Given the description of an element on the screen output the (x, y) to click on. 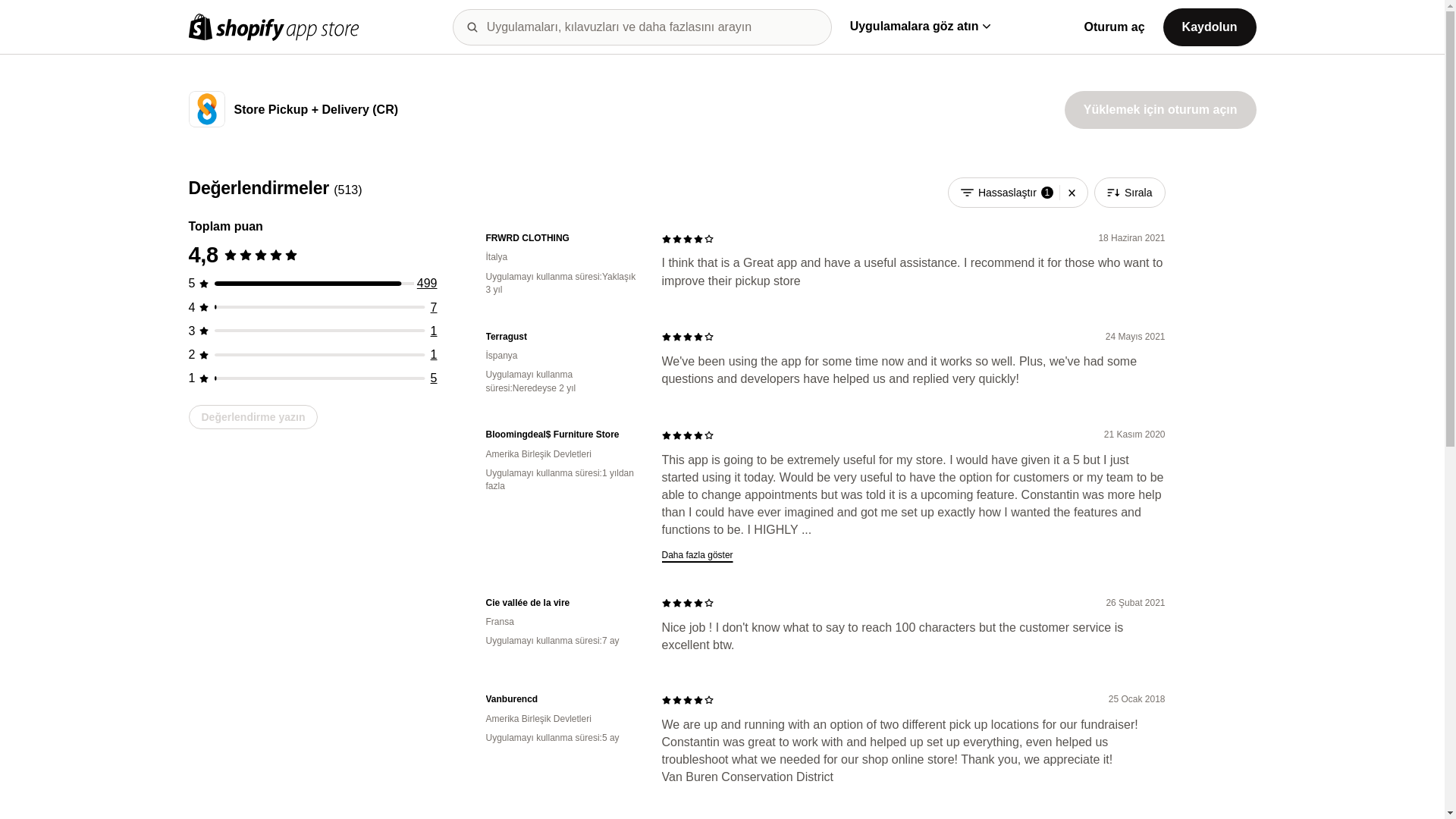
Vanburencd (560, 698)
FRWRD CLOTHING (560, 237)
499 (427, 282)
Kaydolun (1209, 26)
Terragust (560, 336)
